Given the description of an element on the screen output the (x, y) to click on. 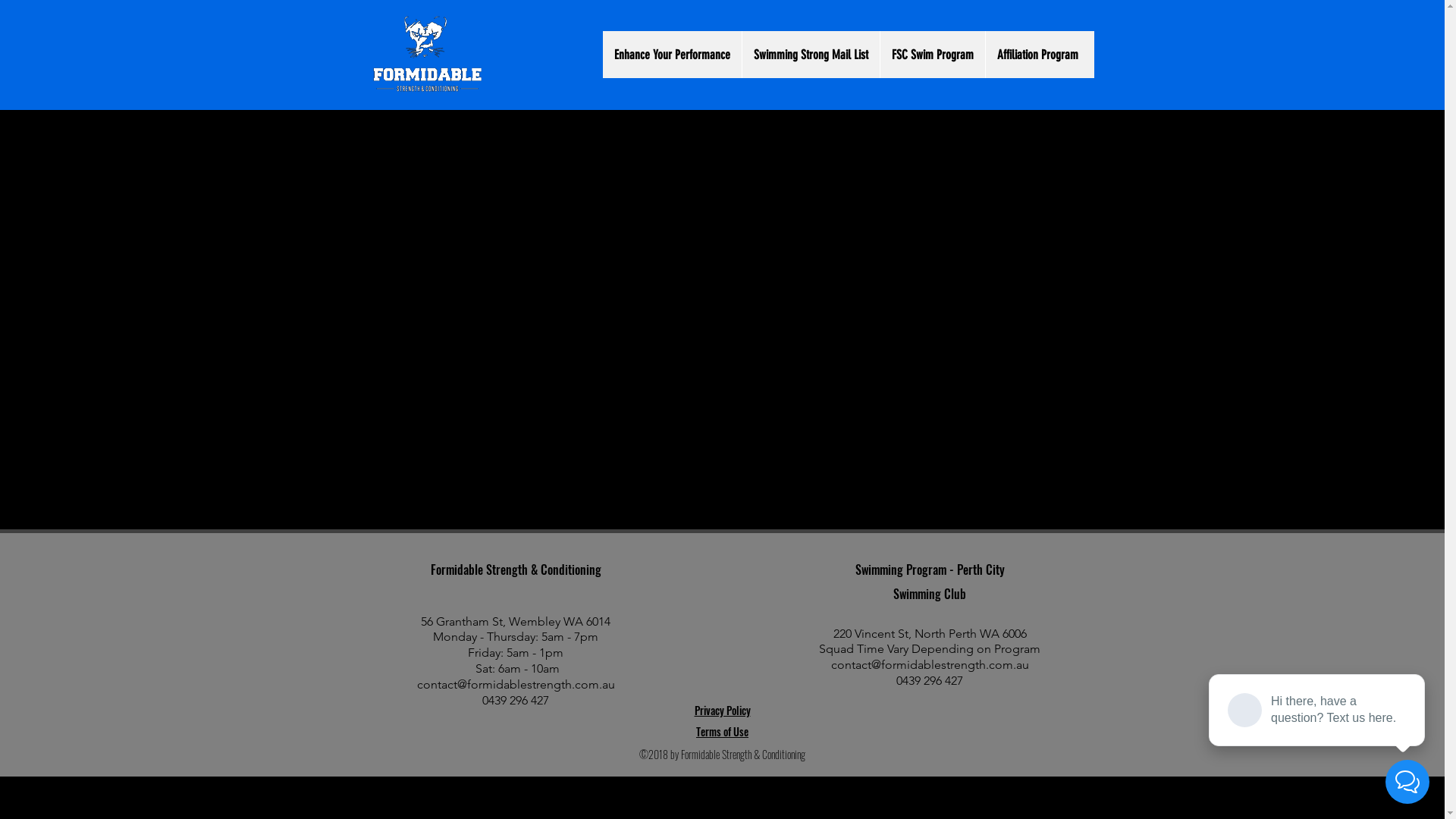
FSC Swim Program Element type: text (932, 54)
contact@formidablestrength.com.au Element type: text (930, 664)
Terms of Use Element type: text (722, 731)
Swimming Strong Mail List Element type: text (810, 54)
Continue Browsing Element type: text (722, 355)
Enhance Your Performance Element type: text (671, 54)
contact@formidablestrength.com.au Element type: text (516, 684)
Privacy Policy Element type: text (722, 710)
